Given the description of an element on the screen output the (x, y) to click on. 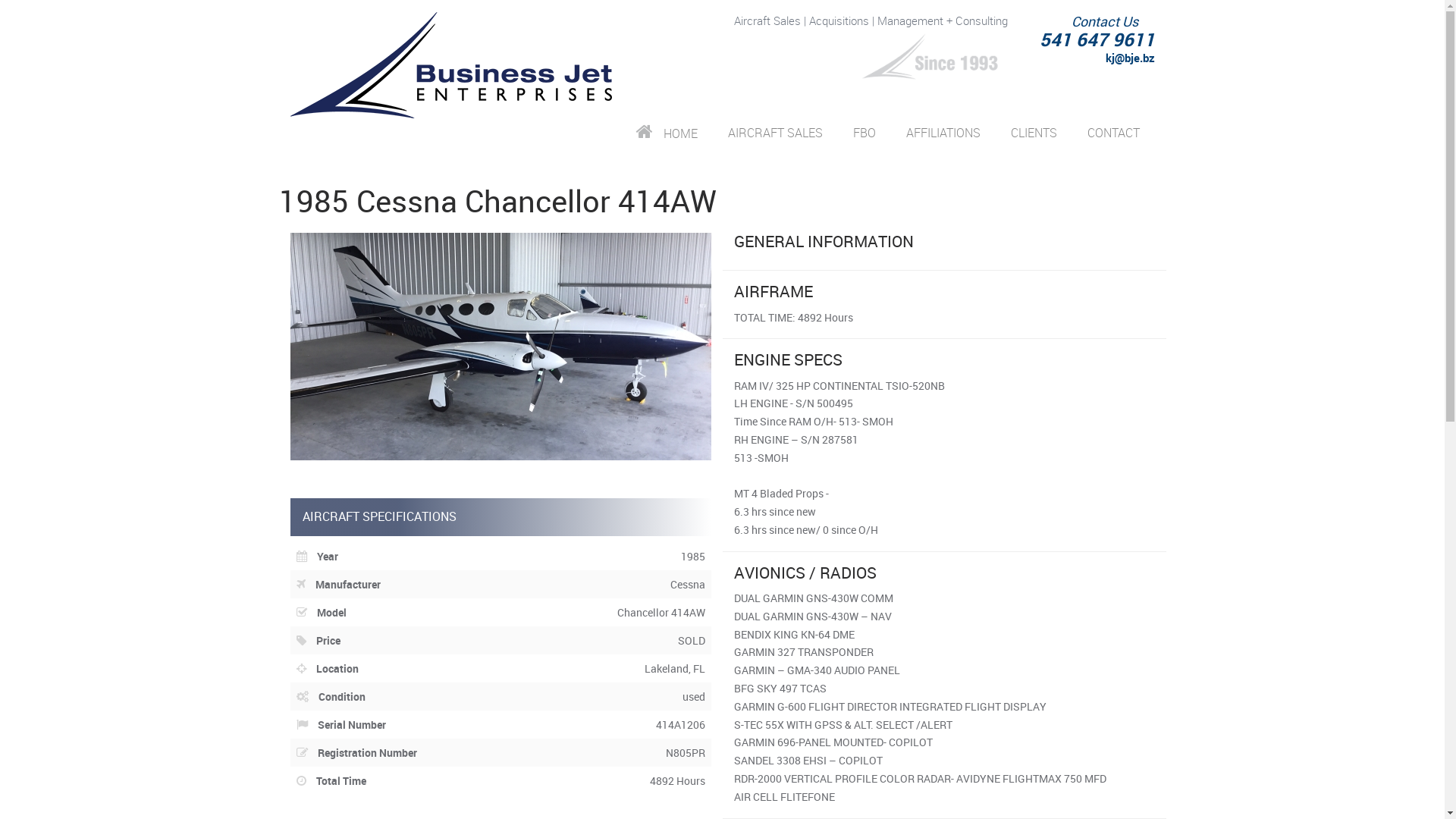
kj@bje.bz Element type: text (1129, 57)
HOME Element type: text (666, 132)
FBO Element type: text (863, 132)
CLIENTS Element type: text (1032, 132)
SKIP TO CONTENT Element type: text (685, 132)
AIRCRAFT SALES Element type: text (774, 132)
CONTACT Element type: text (1113, 132)
AFFILIATIONS Element type: text (942, 132)
